Given the description of an element on the screen output the (x, y) to click on. 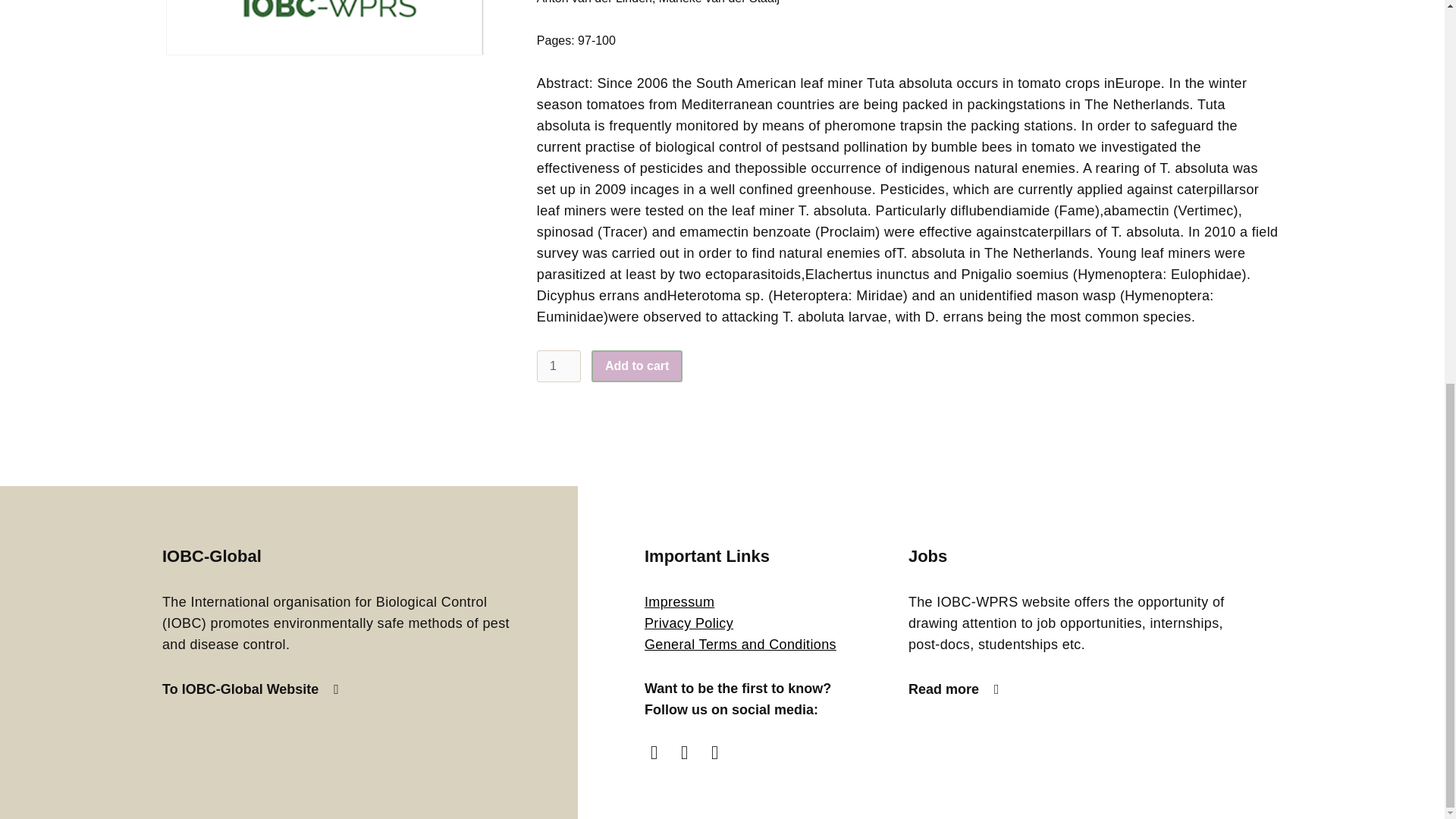
Qty (558, 366)
1 (558, 366)
